Given the description of an element on the screen output the (x, y) to click on. 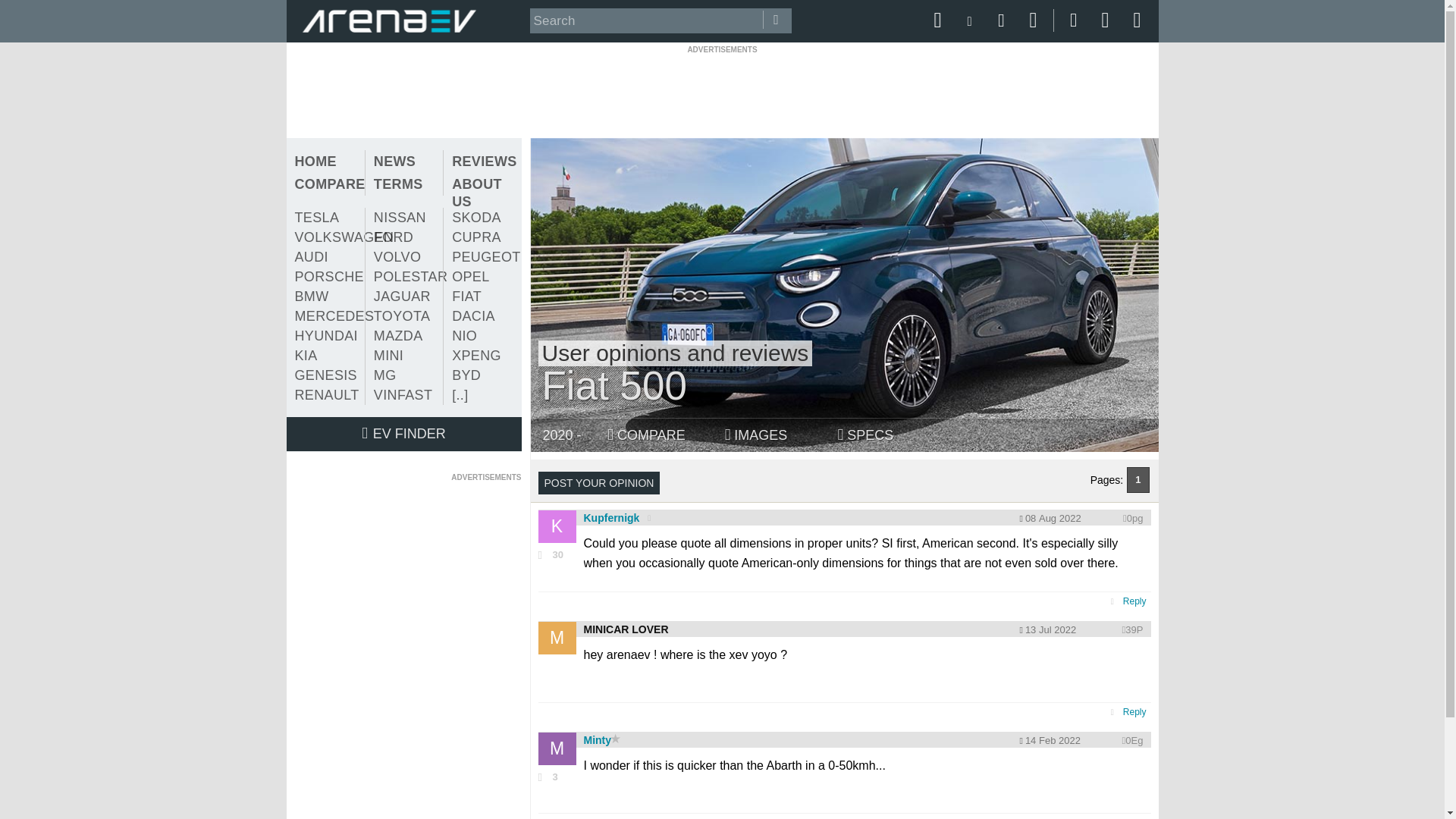
ABOUT US (481, 193)
TESLA (325, 217)
Minty (597, 739)
Advertisement (407, 577)
Posts (557, 776)
Reply (1134, 711)
Reply to this post (1134, 601)
MERCEDES (325, 315)
AUDI (325, 256)
REVIEWS (482, 161)
Advertisement (721, 88)
HYUNDAI (325, 335)
HOME (325, 161)
KIA (325, 355)
SPECS (865, 435)
